Given the description of an element on the screen output the (x, y) to click on. 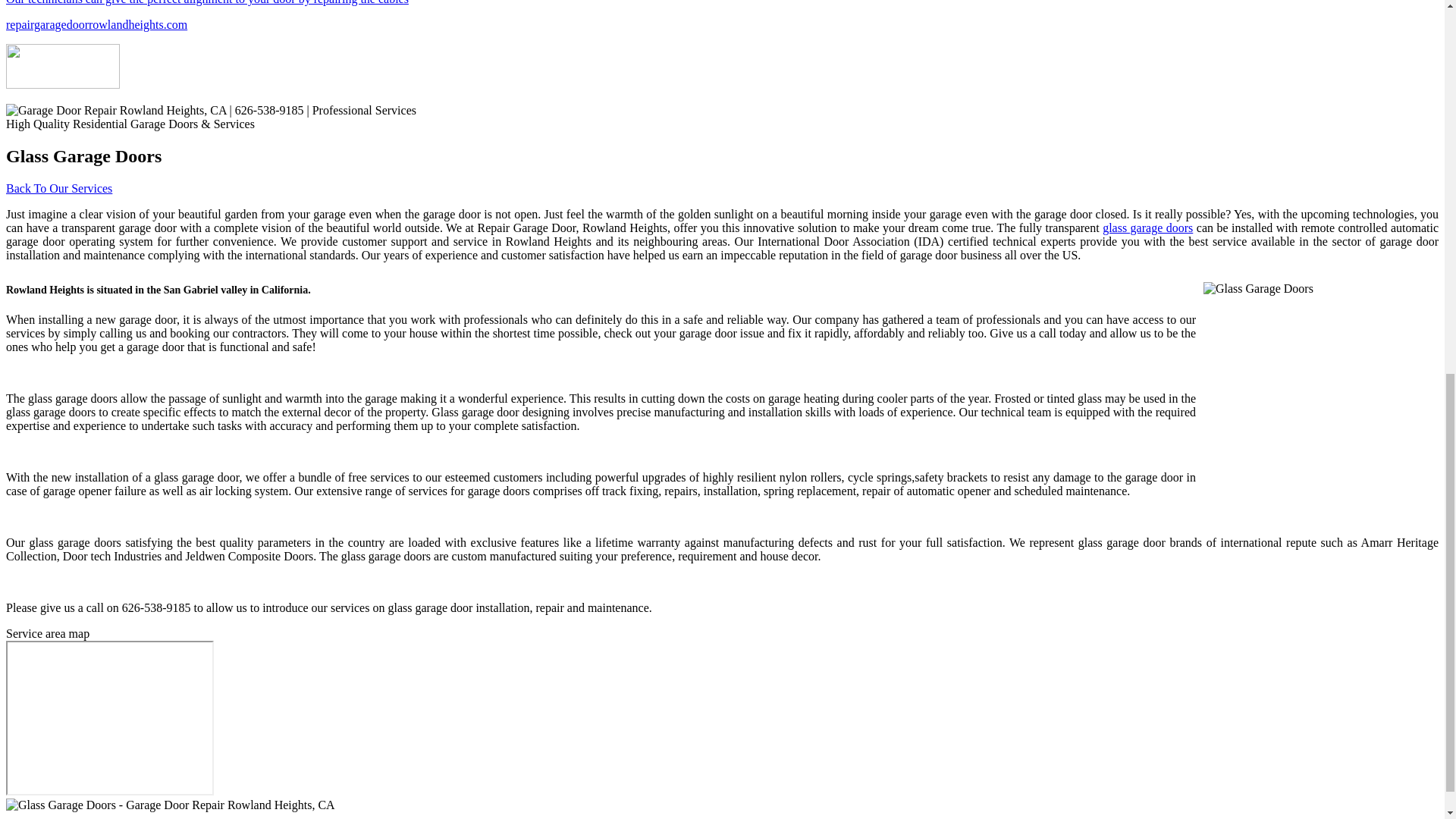
Glass Garage Doors (1317, 398)
glass garage doors (1147, 227)
Back To Our Services (58, 187)
Glass Garage Doors - Garage Door Repair Rowland Heights, CA (169, 805)
